Given the description of an element on the screen output the (x, y) to click on. 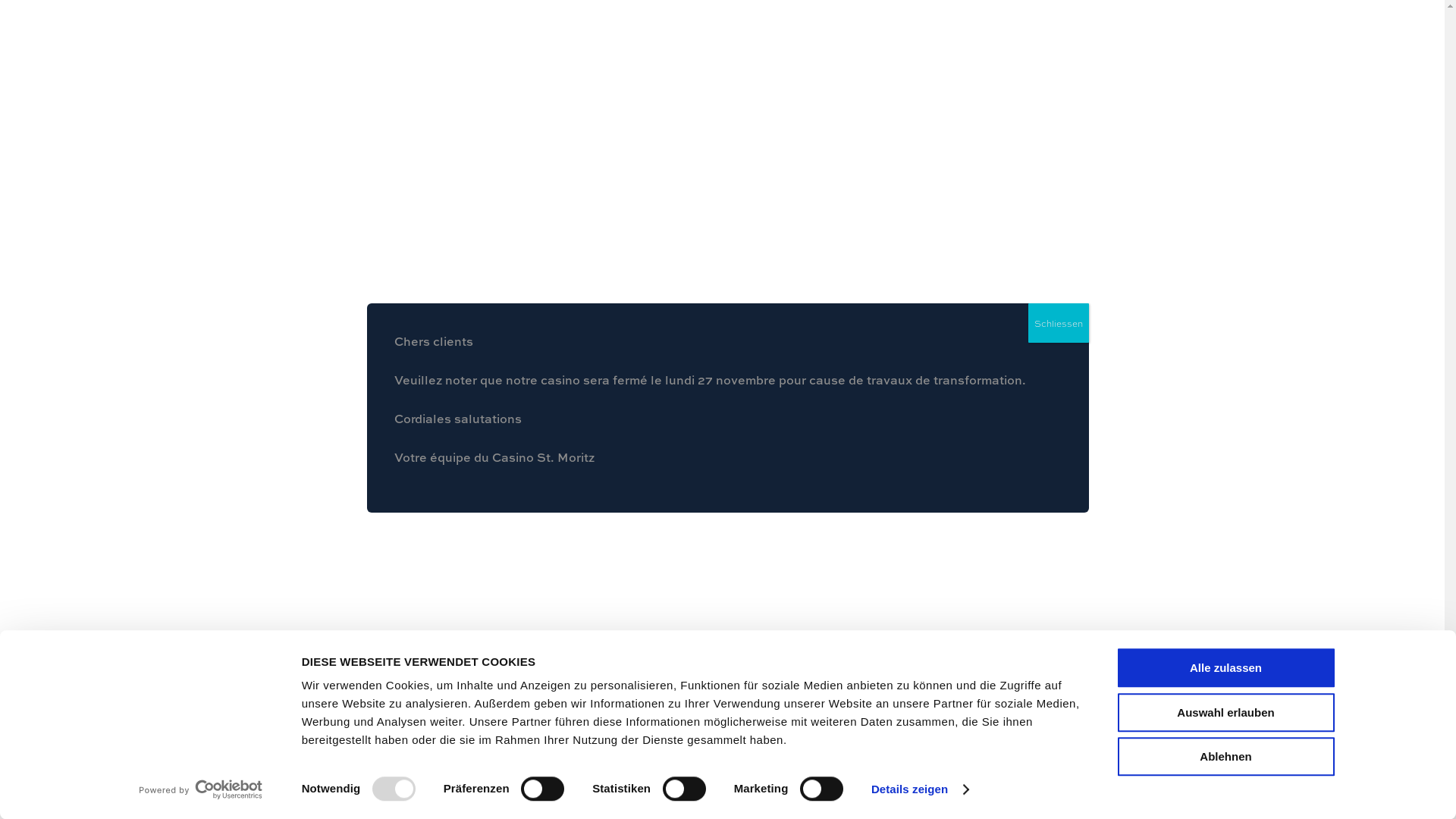
Contact Element type: text (1241, 43)
Alle zulassen Element type: text (1225, 667)
Jeux Element type: text (1059, 43)
Schliessen Element type: text (1058, 322)
Events Element type: text (1117, 43)
Fr Element type: text (1302, 43)
Ablehnen Element type: text (1225, 756)
search Element type: text (1401, 44)
Auswahl erlauben Element type: text (1225, 712)
Details zeigen Element type: text (919, 789)
Casino St. Moritz Element type: text (969, 43)
